Given the description of an element on the screen output the (x, y) to click on. 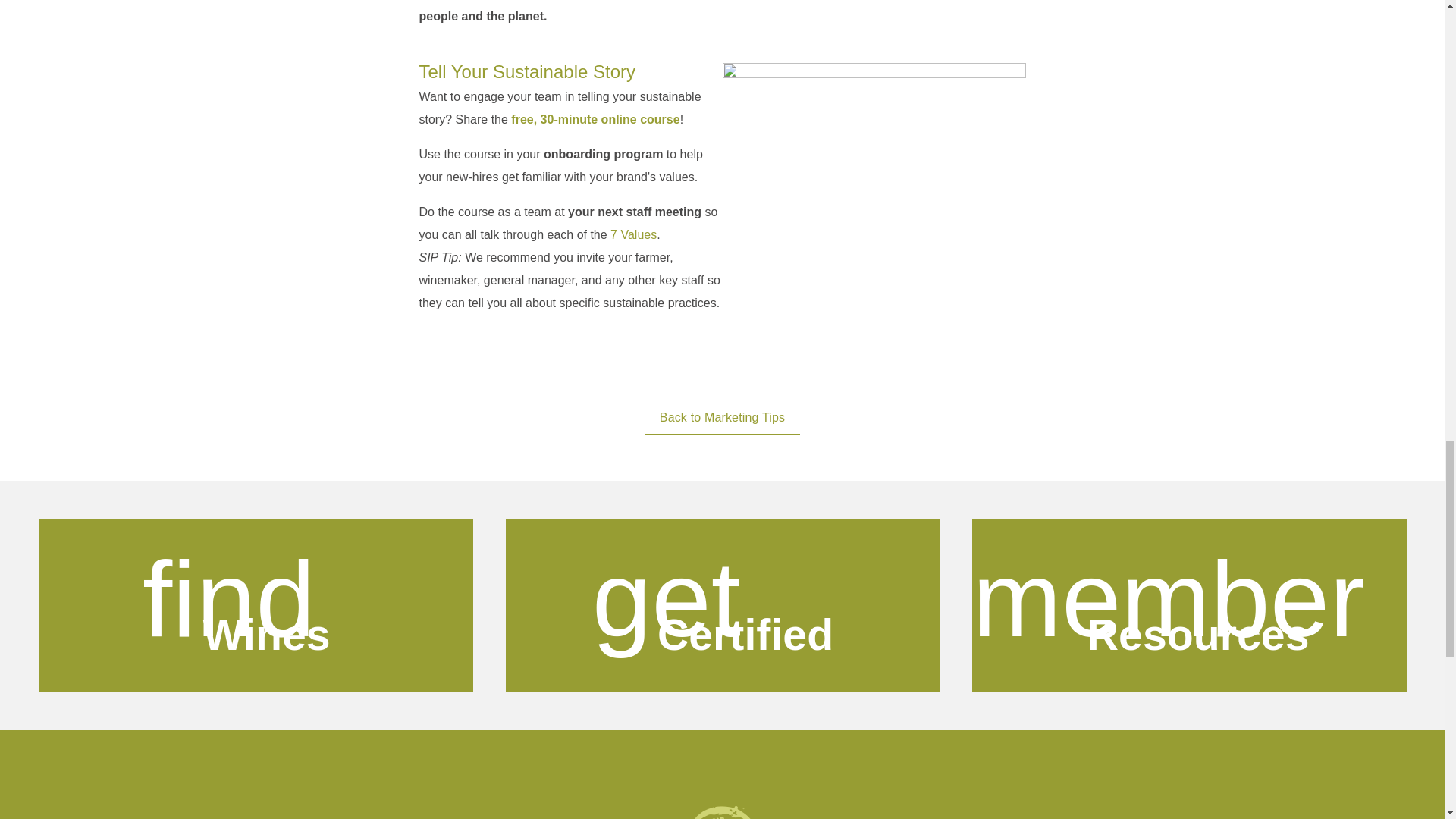
7 Values (1189, 605)
Back to Marketing Tips (633, 234)
free, 30-minute online course (722, 422)
